Given the description of an element on the screen output the (x, y) to click on. 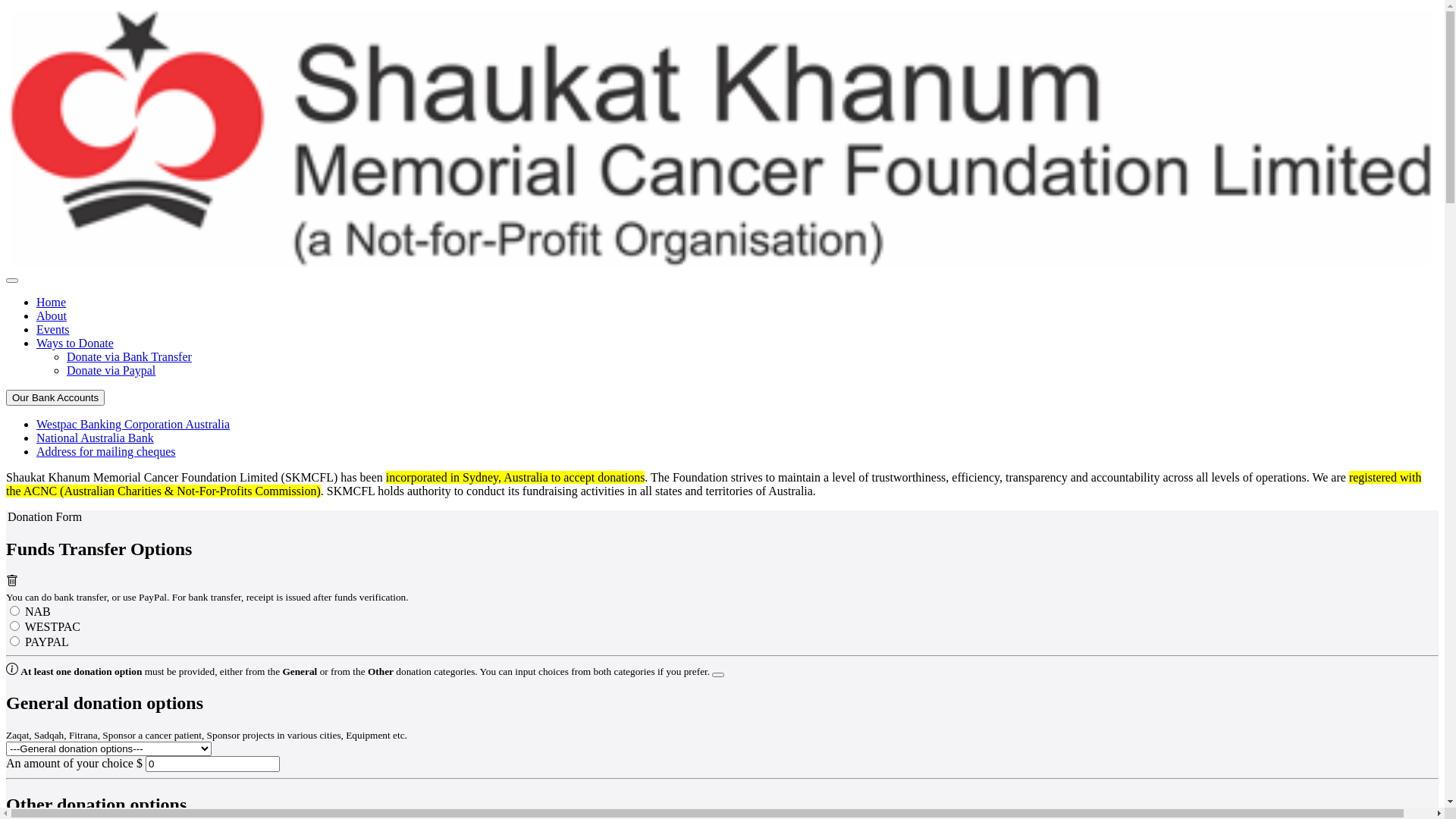
Our Bank Accounts Element type: text (55, 397)
Westpac Banking Corporation Australia Element type: text (132, 423)
Events Element type: text (52, 329)
About Element type: text (51, 315)
Clear selection Element type: hover (12, 582)
Donate via Paypal Element type: text (110, 370)
Donate via Bank Transfer Element type: text (128, 356)
Home Element type: text (50, 301)
Address for mailing cheques Element type: text (105, 451)
Ways to Donate Element type: text (74, 342)
National Australia Bank Element type: text (94, 437)
